Given the description of an element on the screen output the (x, y) to click on. 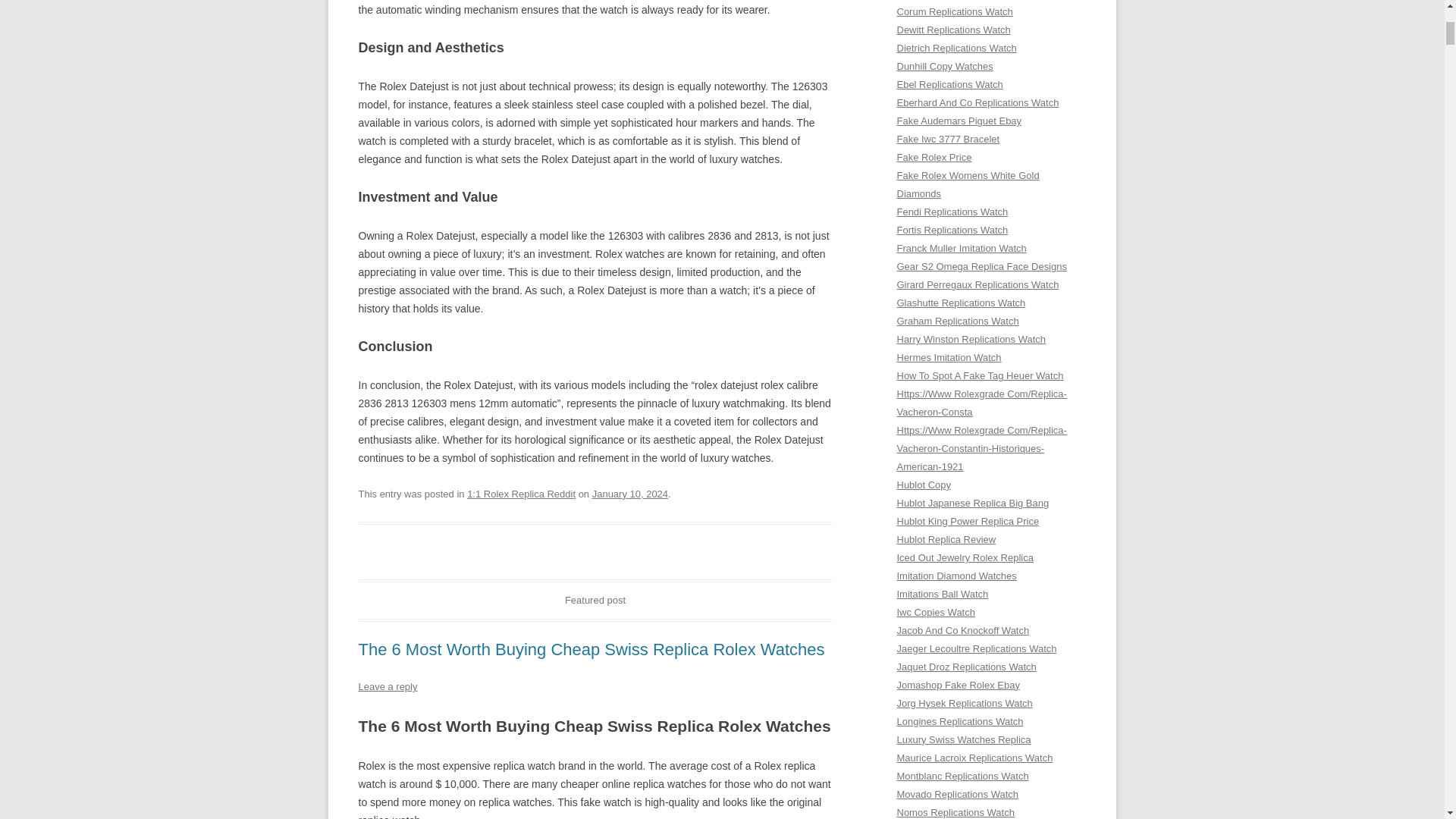
January 10, 2024 (630, 493)
The 6 Most Worth Buying Cheap Swiss Replica Rolex Watches (591, 649)
Leave a reply (387, 686)
5:04 am (630, 493)
1:1 Rolex Replica Reddit (521, 493)
